Given the description of an element on the screen output the (x, y) to click on. 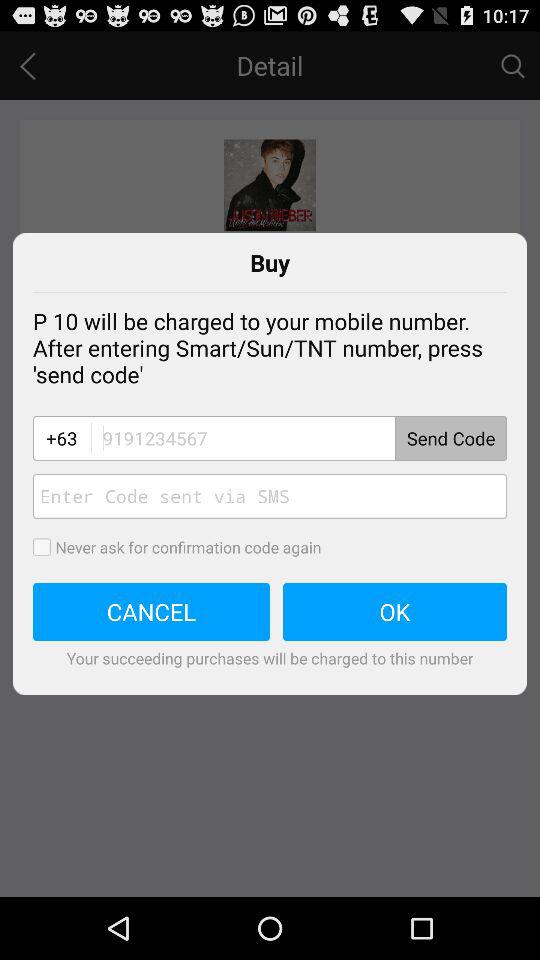
toggle confirmation code option (48, 547)
